Given the description of an element on the screen output the (x, y) to click on. 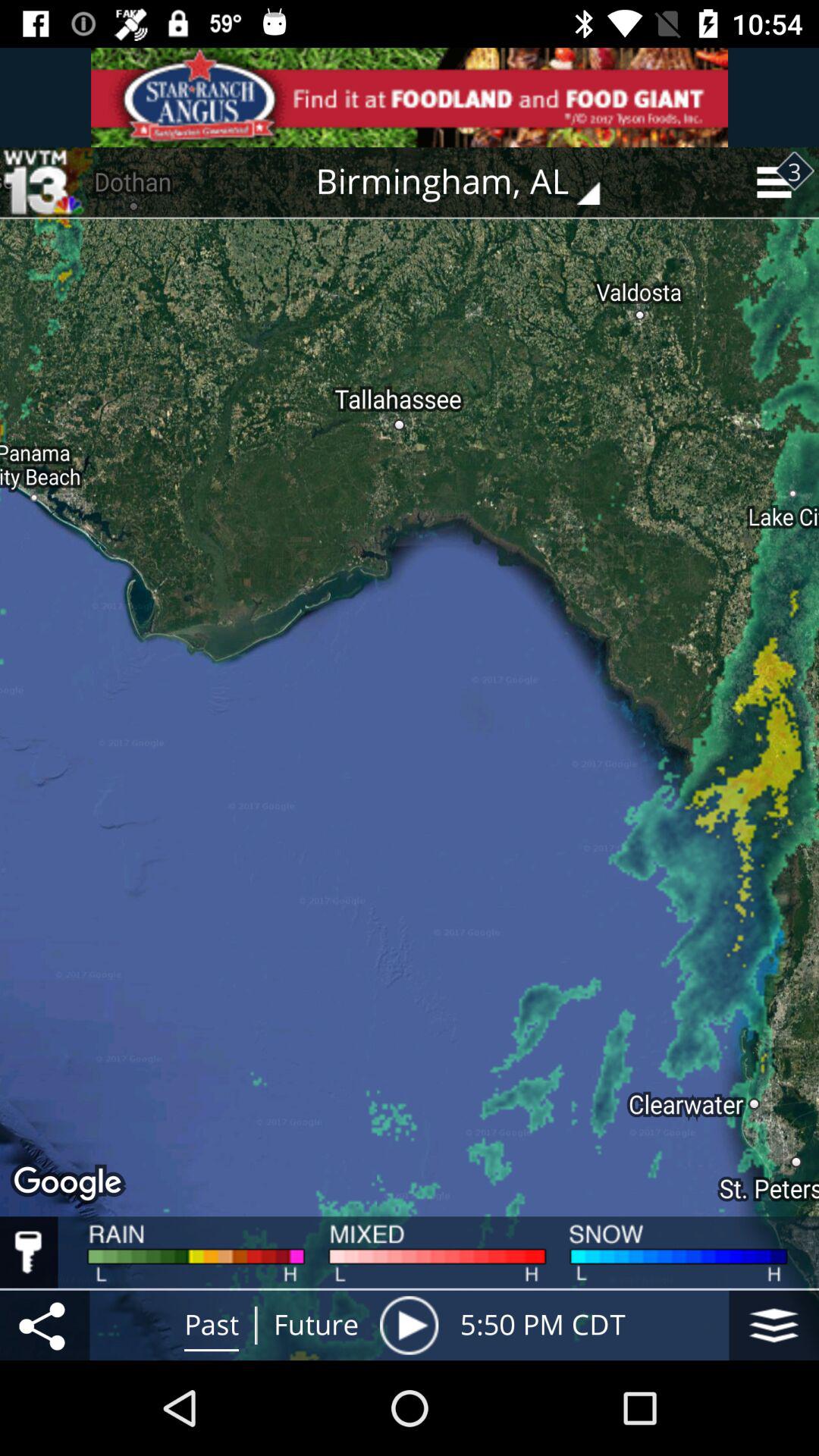
play (409, 1325)
